Given the description of an element on the screen output the (x, y) to click on. 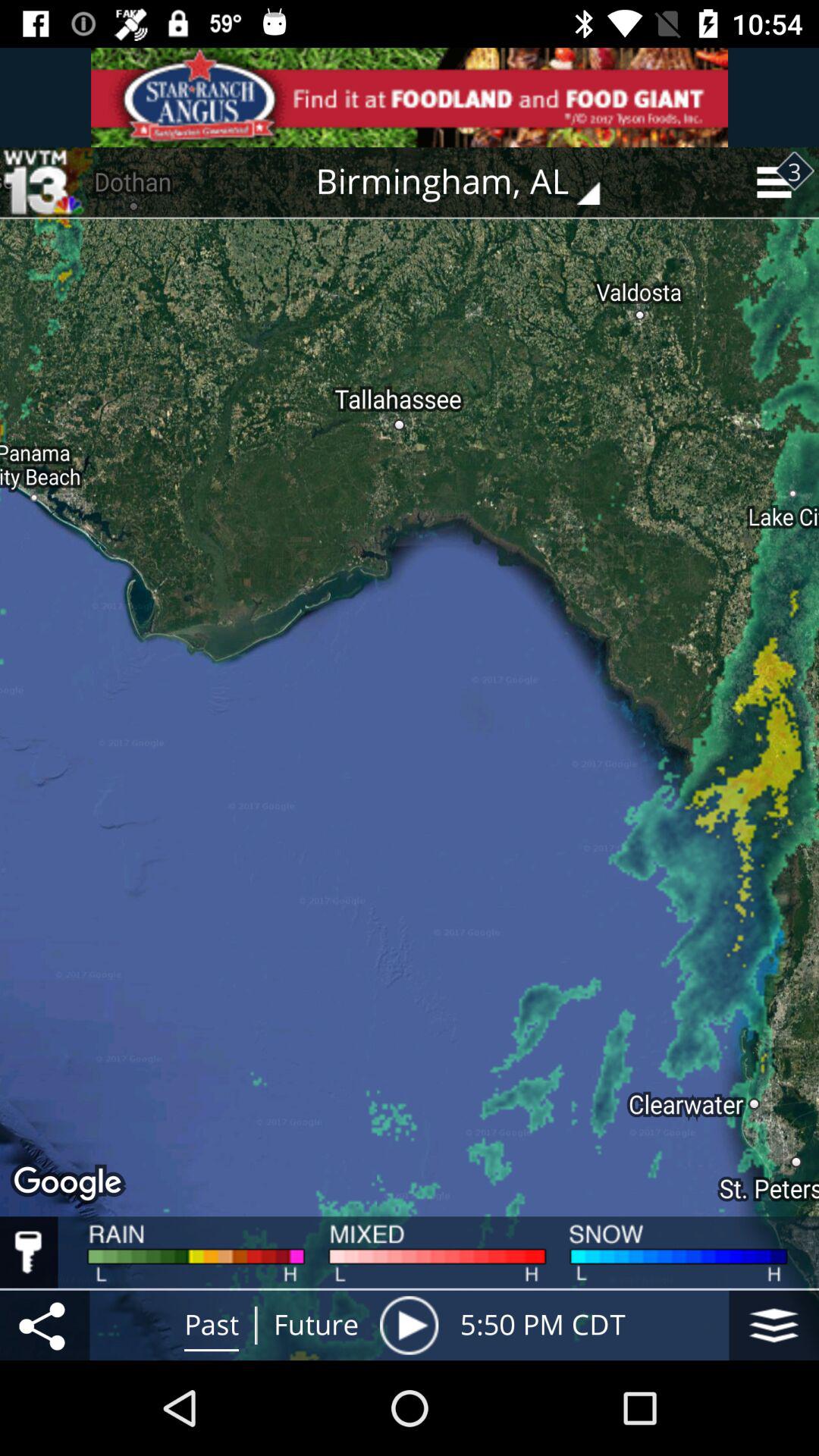
play (409, 1325)
